Given the description of an element on the screen output the (x, y) to click on. 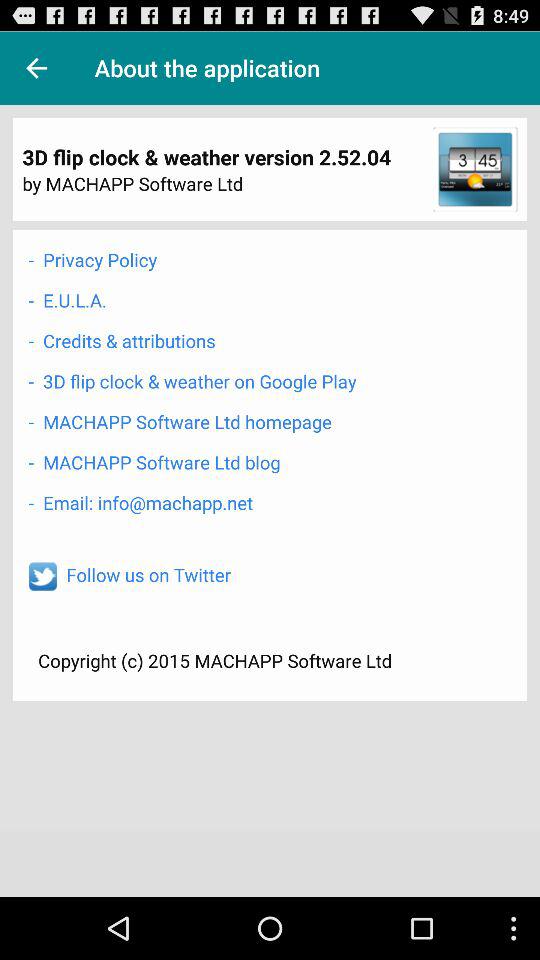
click to back option (36, 68)
